Given the description of an element on the screen output the (x, y) to click on. 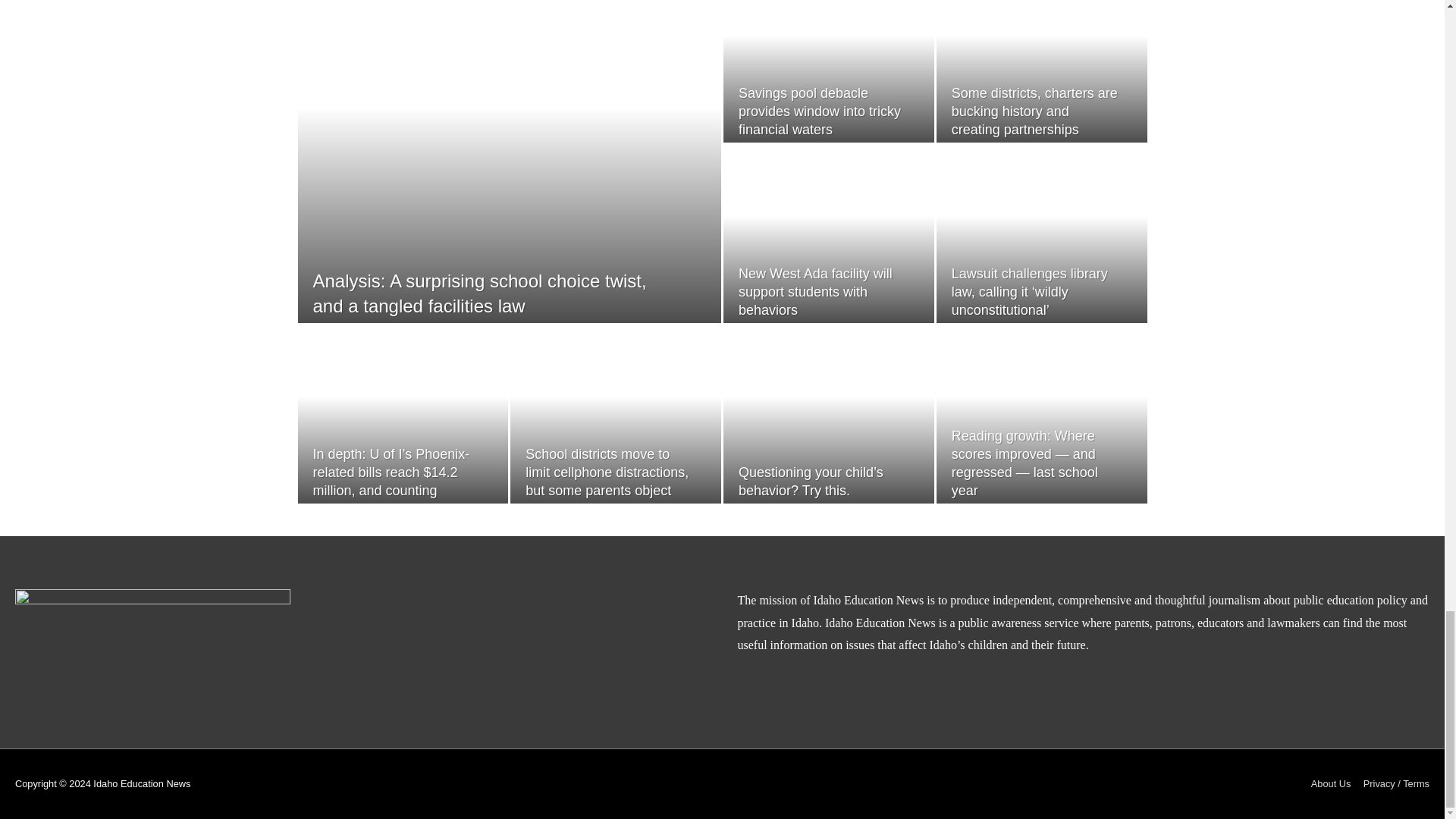
New West Ada facility will support students with behaviors (815, 291)
